Given the description of an element on the screen output the (x, y) to click on. 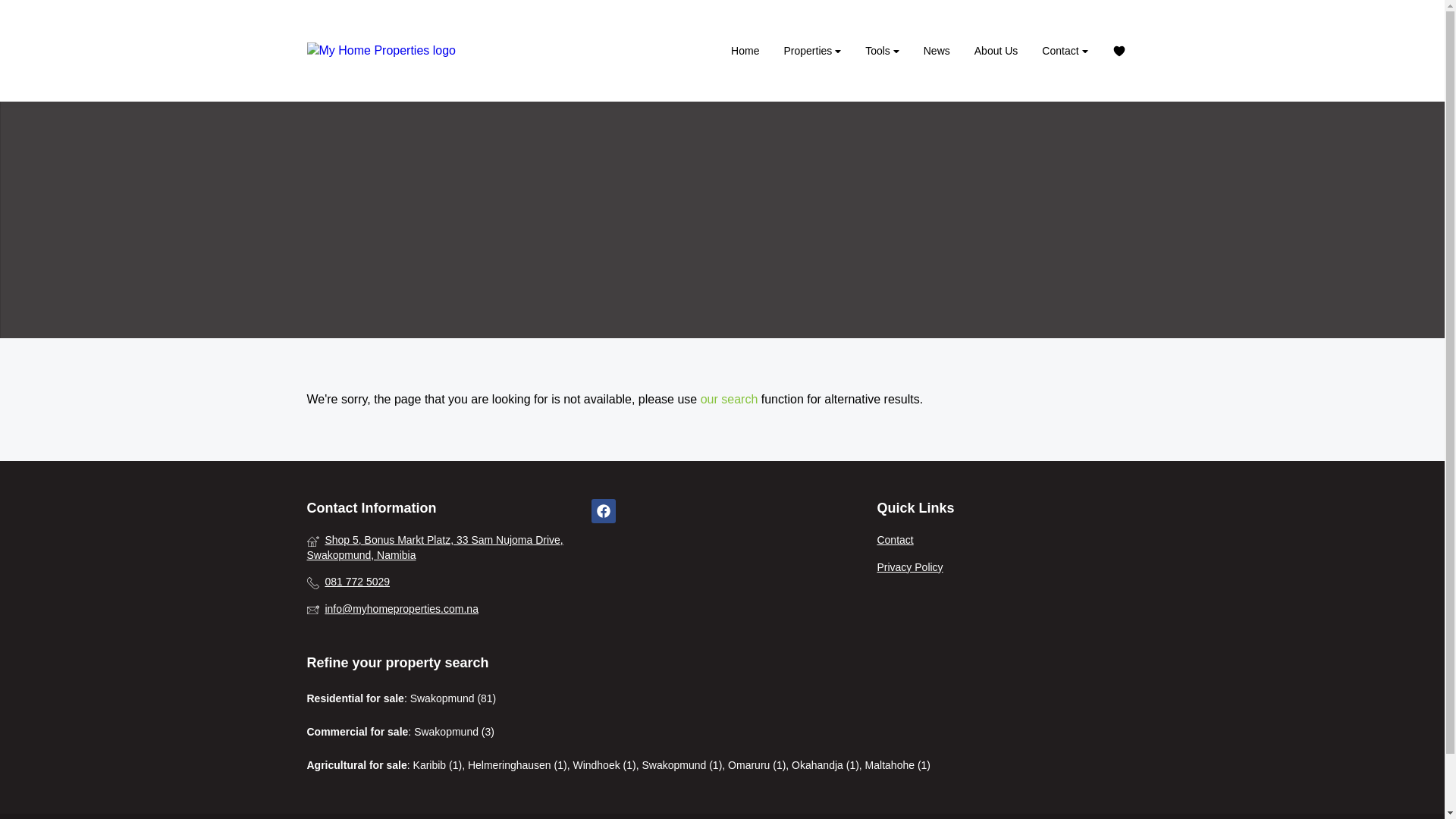
Contact (1006, 540)
Favourites (1118, 50)
About Us (996, 50)
My Home Properties facebook page (603, 511)
081 772 5029 (436, 581)
Properties for sale in Swakopmund Namibia (389, 50)
Home (745, 50)
Favourites (1118, 50)
Privacy Policy (1006, 567)
